Given the description of an element on the screen output the (x, y) to click on. 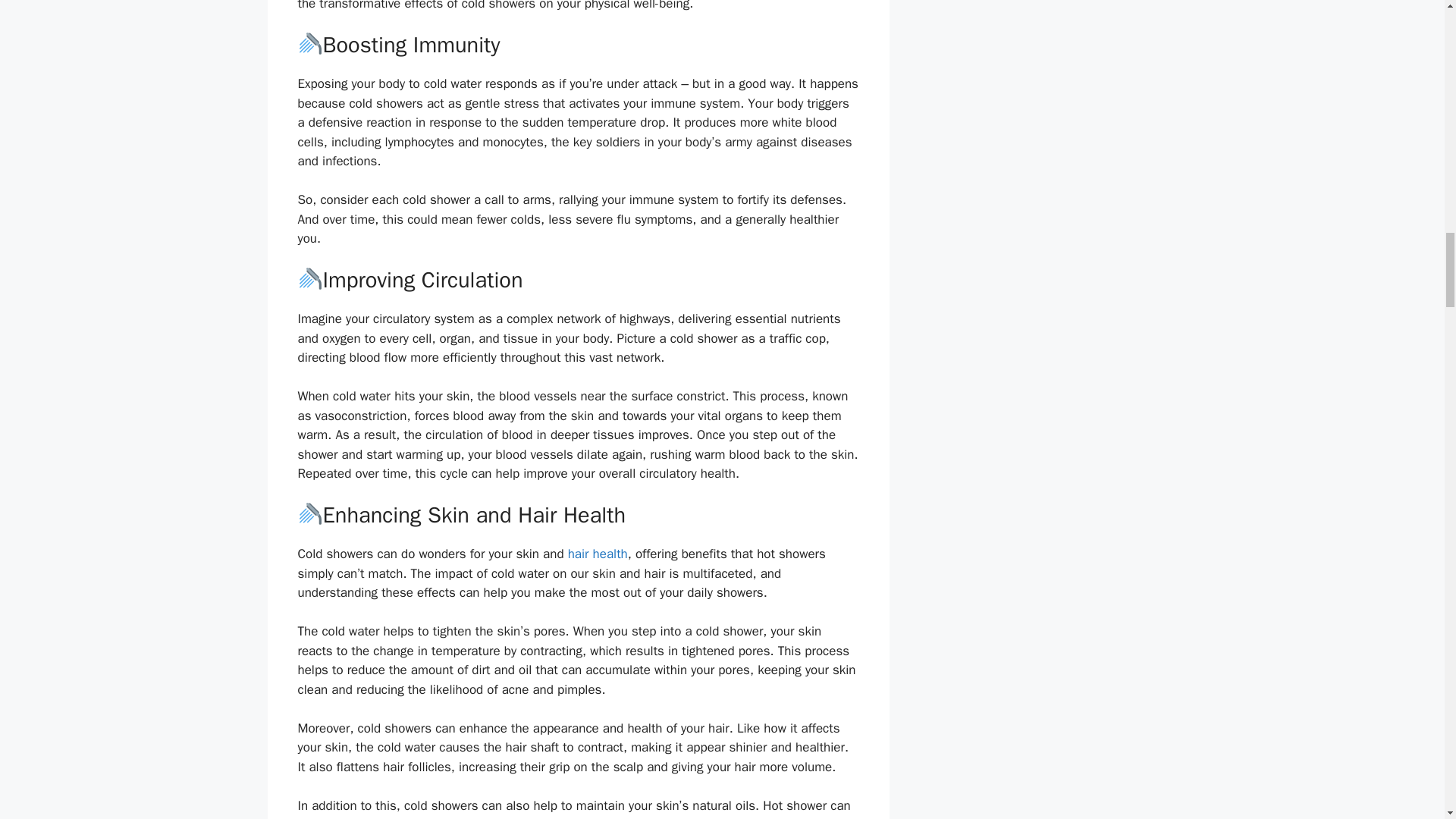
hair health (597, 553)
